Given the description of an element on the screen output the (x, y) to click on. 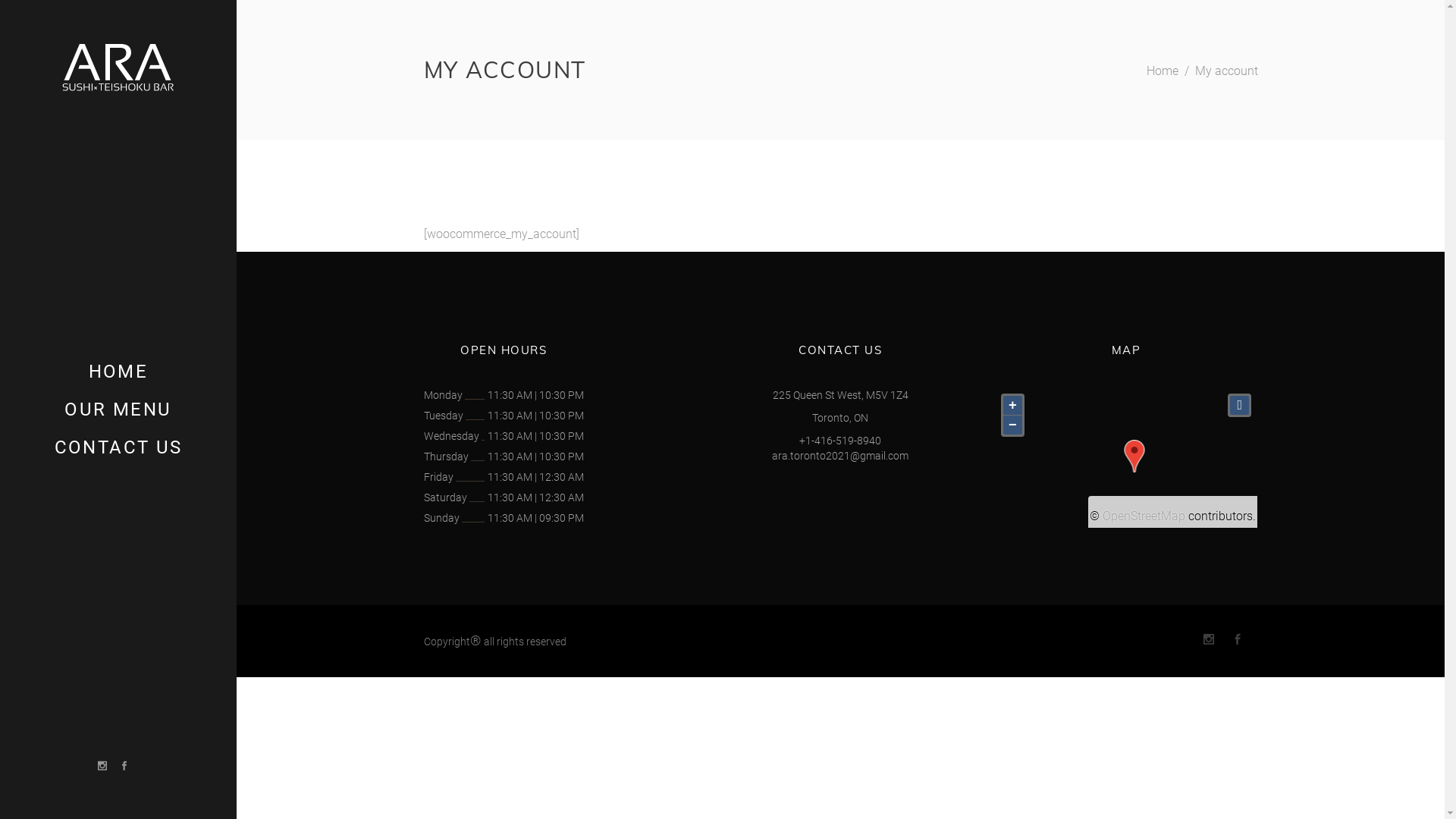
CONTACT US Element type: text (118, 447)
Home Element type: text (1162, 70)
OpenStreetMap Element type: text (1143, 515)
HOME Element type: text (118, 371)
OUR MENU Element type: text (118, 409)
+ Element type: text (1012, 404)
ara.toronto2021@gmail.com Element type: text (839, 454)
+1-416-519-8940 Element type: text (840, 439)
